Given the description of an element on the screen output the (x, y) to click on. 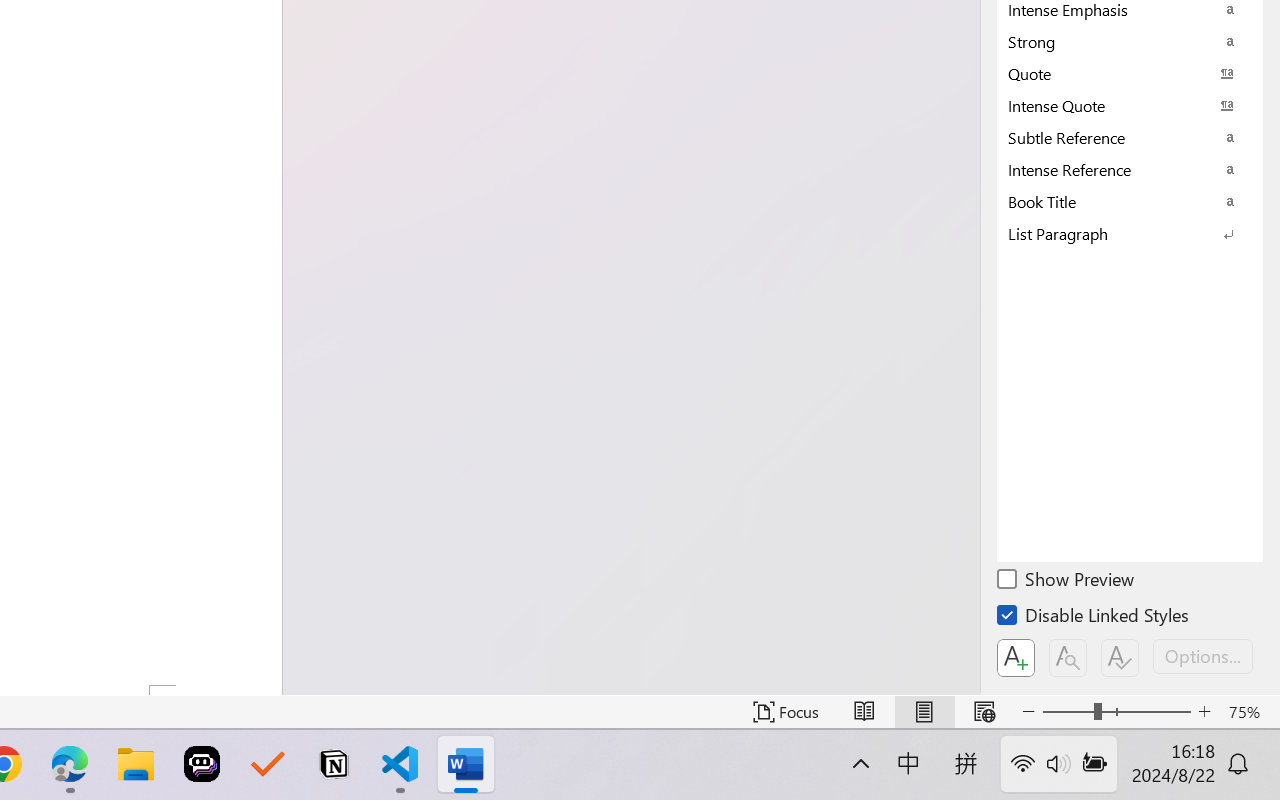
Strong (1130, 41)
Disable Linked Styles (1094, 618)
Show Preview (1067, 582)
Book Title (1130, 201)
Zoom 75% (1249, 712)
Intense Reference (1130, 169)
Intense Quote (1130, 105)
List Paragraph (1130, 233)
Subtle Reference (1130, 137)
Class: NetUIButton (1119, 657)
